Given the description of an element on the screen output the (x, y) to click on. 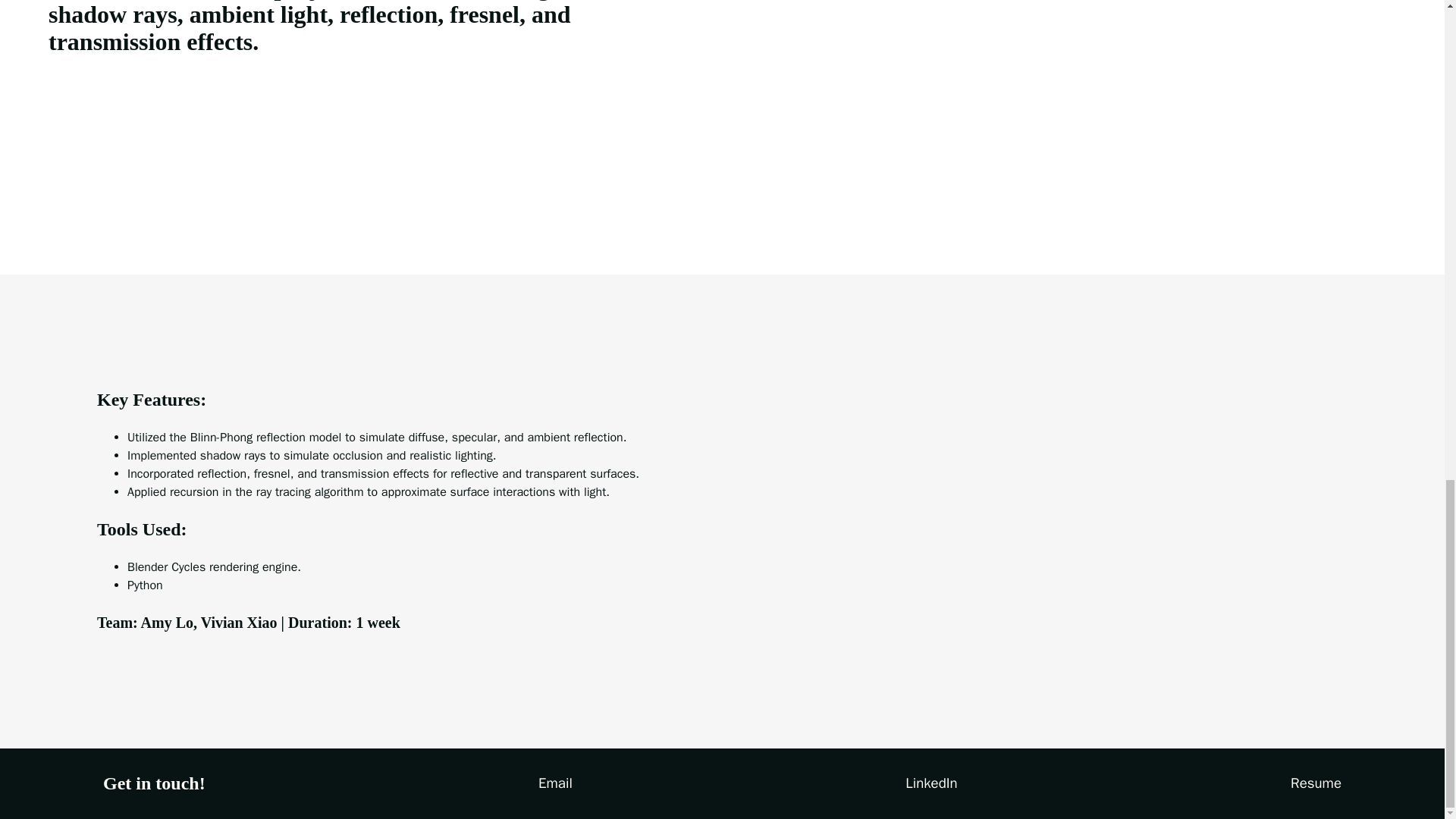
Simple Recursive Ray Tracer (1077, 88)
Resume (1316, 783)
Email (555, 783)
LinkedIn (930, 783)
